Given the description of an element on the screen output the (x, y) to click on. 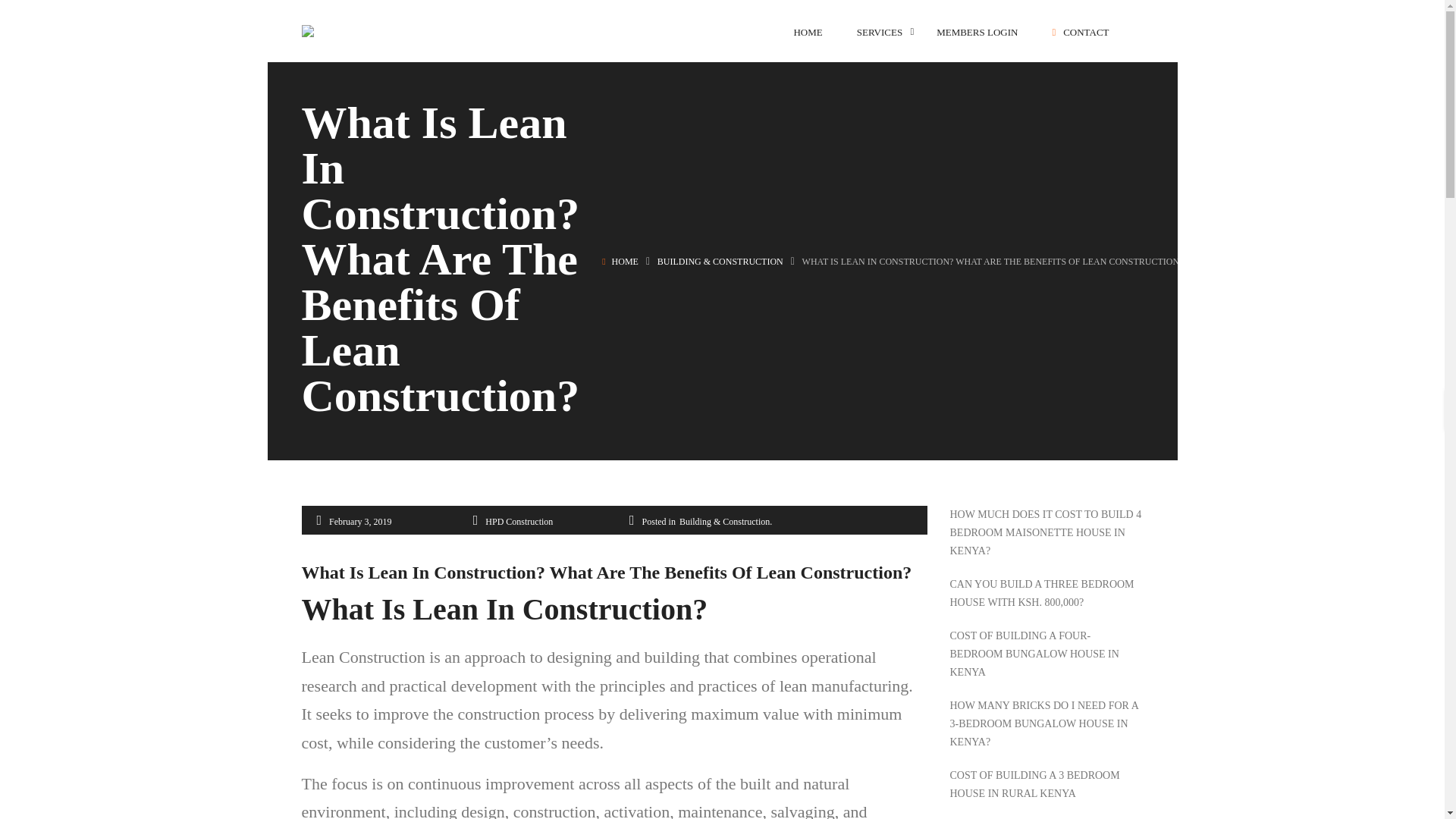
SERVICES (879, 31)
CAN YOU BUILD A THREE BEDROOM HOUSE WITH KSH. 800,000? (1045, 593)
CONTACT (1079, 31)
February 3, 2019 (360, 521)
COST OF BUILDING A FOUR-BEDROOM BUNGALOW HOUSE IN KENYA (1045, 654)
HOME (807, 31)
HOME (625, 261)
MEMBERS LOGIN (976, 31)
HPD Construction (518, 521)
